Given the description of an element on the screen output the (x, y) to click on. 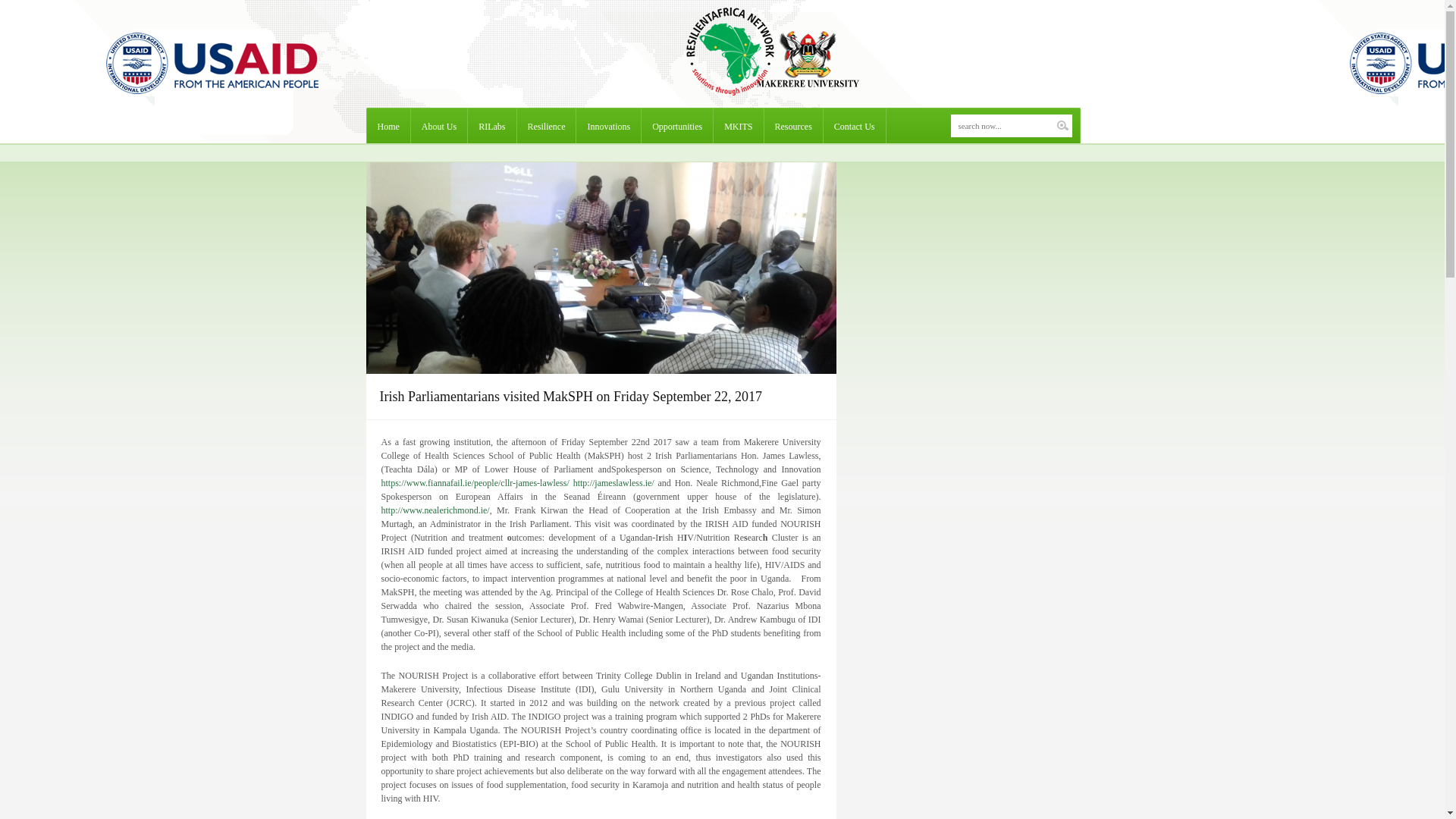
Innovations (608, 125)
RILabs (491, 125)
About Us (438, 125)
Opportunities (677, 125)
Home (388, 125)
Resilience (546, 125)
